Given the description of an element on the screen output the (x, y) to click on. 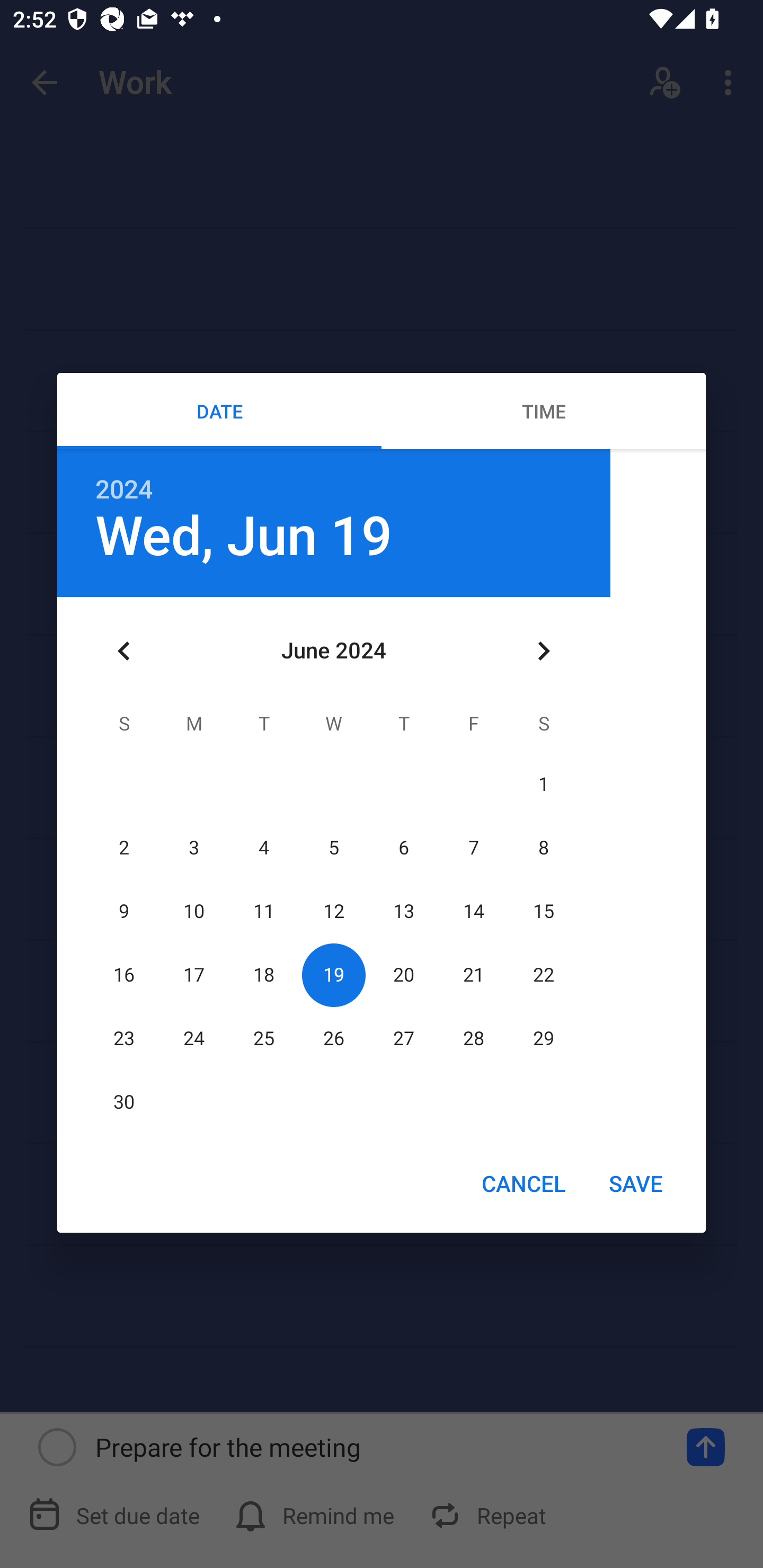
Time TIME (543, 410)
